Given the description of an element on the screen output the (x, y) to click on. 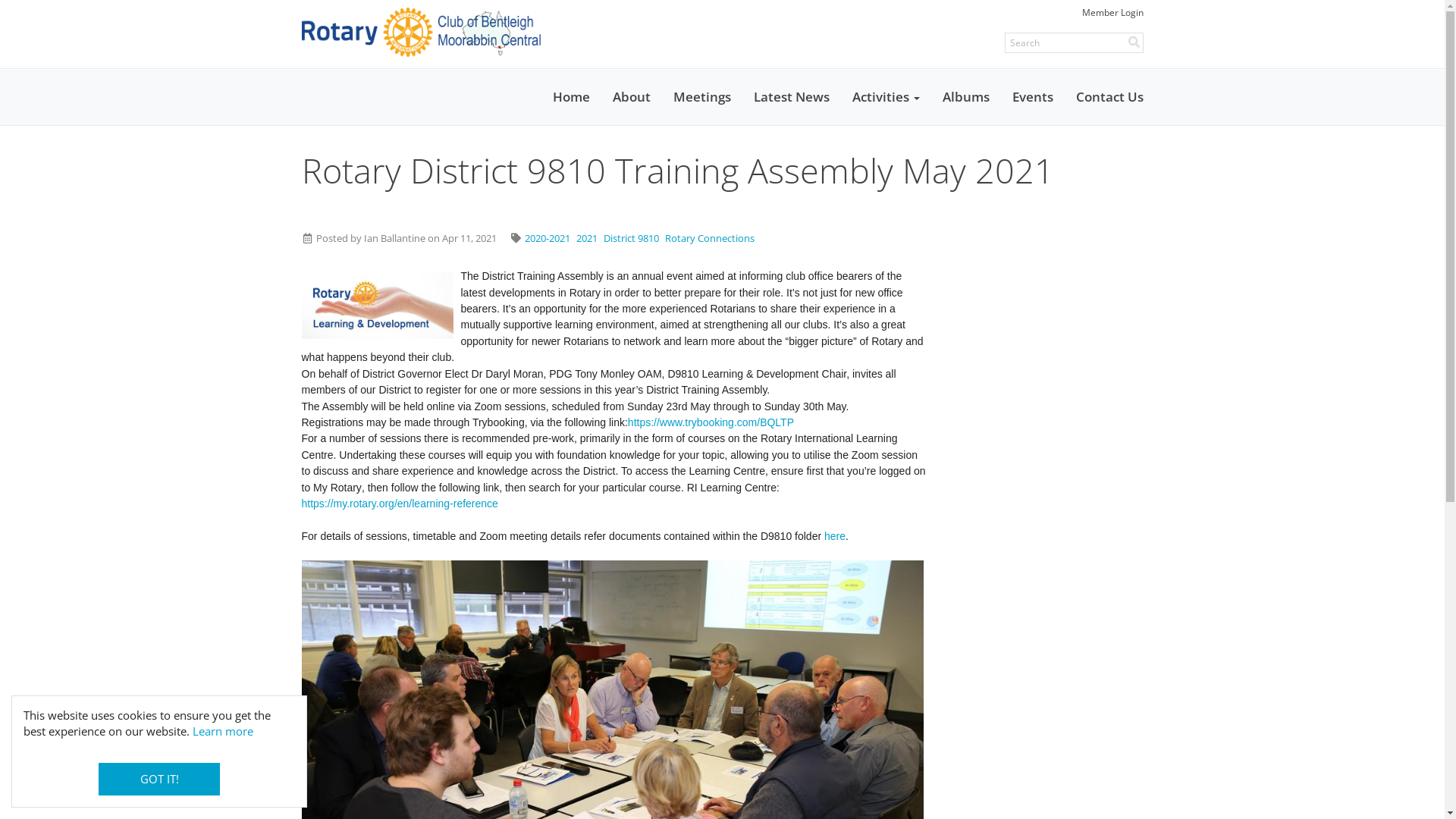
Meetings Element type: text (701, 96)
here Element type: text (834, 536)
GOT IT! Element type: text (158, 778)
Learn more Element type: text (222, 730)
Home Element type: text (571, 96)
Rotary Connections Element type: text (709, 237)
About Element type: text (630, 96)
2020-2021 Element type: text (547, 237)
District 9810 Element type: text (630, 237)
Member Login Element type: text (1111, 12)
https://www.trybooking.com/BQLTP Element type: text (710, 422)
2021 Element type: text (586, 237)
Events Element type: text (1032, 96)
Contact Us Element type: text (1109, 96)
Activities Element type: text (885, 96)
Albums Element type: text (966, 96)
https://my.rotary.org/en/learning-reference Element type: text (399, 503)
Latest News Element type: text (790, 96)
